Given the description of an element on the screen output the (x, y) to click on. 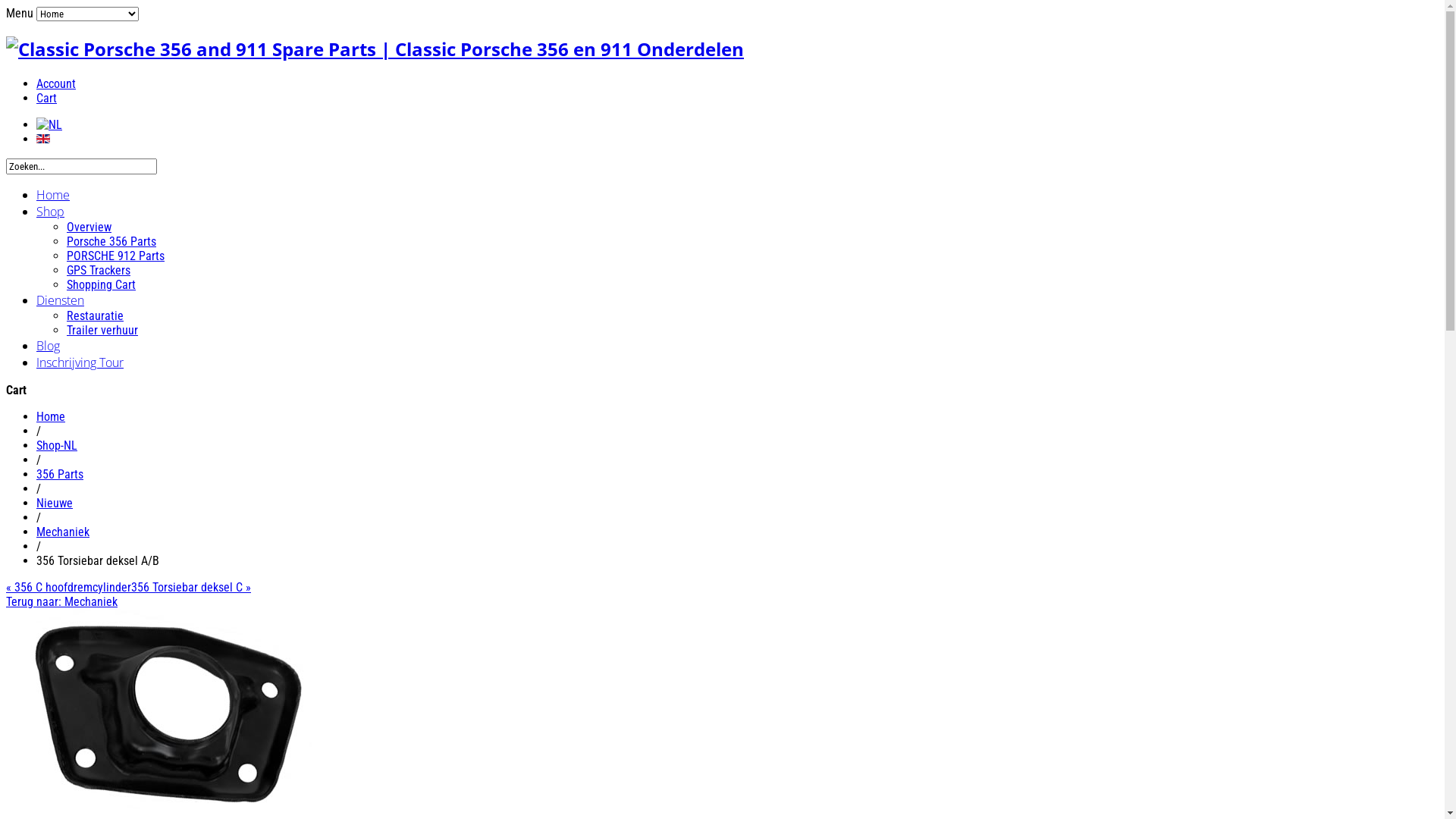
Overview Element type: text (88, 226)
English (UK) Element type: hover (43, 138)
NL Element type: hover (49, 124)
Trailer verhuur Element type: text (102, 330)
Inschrijving Tour Element type: text (79, 362)
Restauratie Element type: text (94, 315)
Shop-NL Element type: text (56, 445)
Shopping Cart Element type: text (100, 284)
Porsche 356 Parts Element type: text (111, 241)
Mechaniek Element type: text (62, 531)
Cart Element type: text (46, 98)
PORSCHE 912 Parts Element type: text (115, 255)
Blog Element type: text (47, 345)
Account Element type: text (55, 83)
Diensten Element type: text (60, 299)
Terug naar: Mechaniek Element type: text (61, 601)
Home Element type: text (50, 416)
Nieuwe Element type: text (54, 502)
356 Parts Element type: text (59, 474)
GPS Trackers Element type: text (98, 270)
Shop Element type: text (50, 211)
Home Element type: text (52, 194)
